Given the description of an element on the screen output the (x, y) to click on. 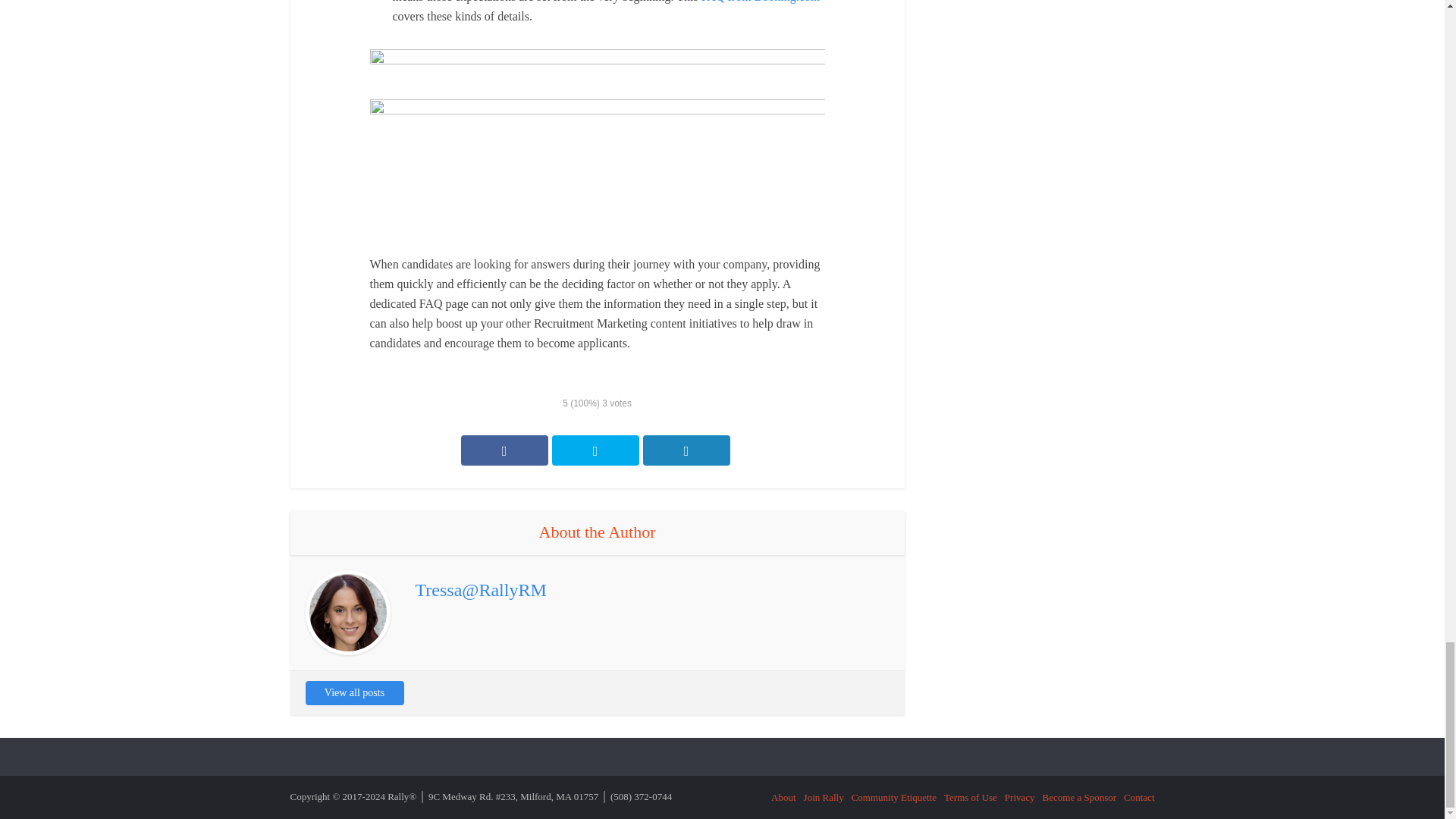
FAQ from Booking.com (761, 1)
